Given the description of an element on the screen output the (x, y) to click on. 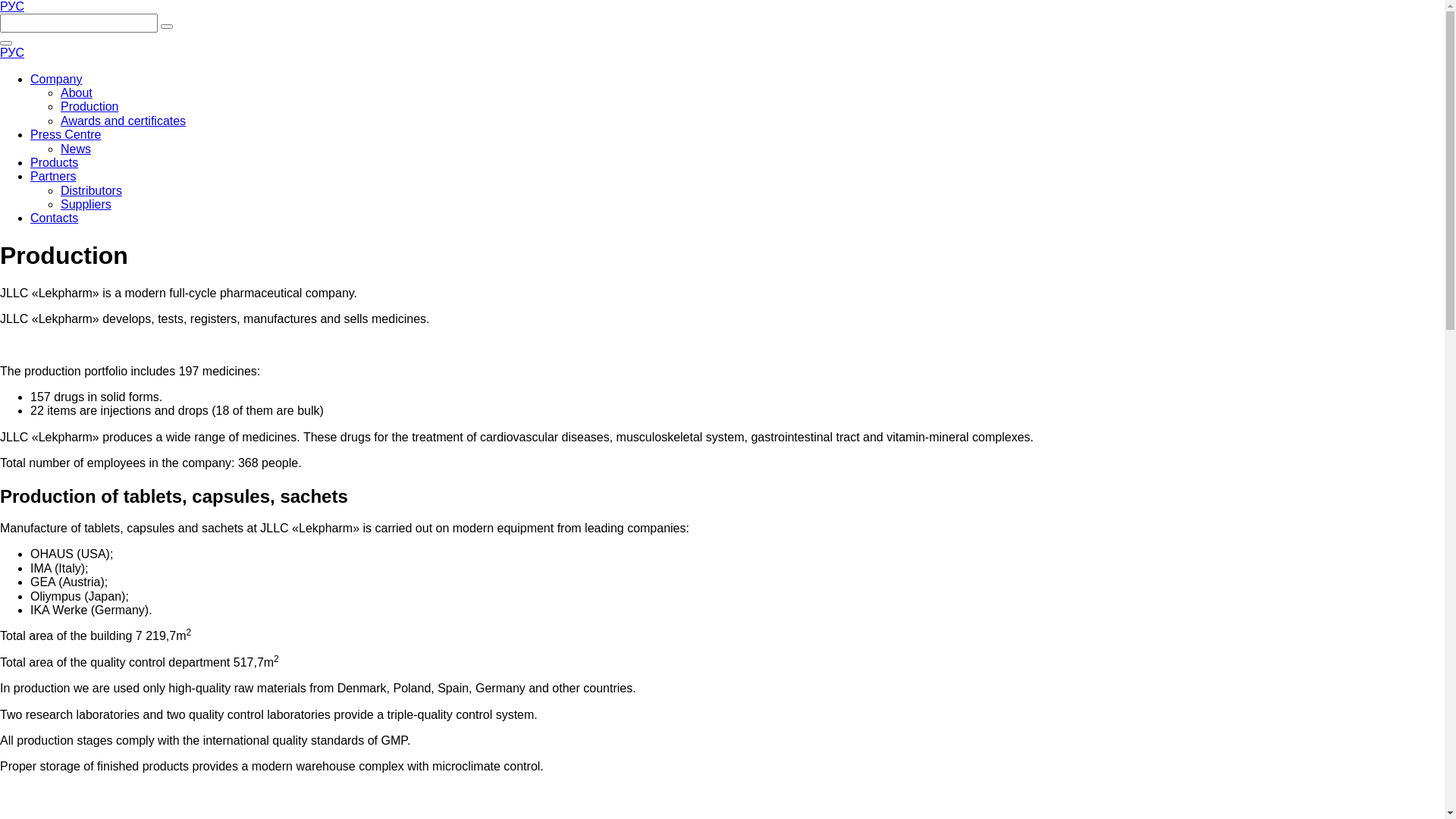
Awards and certificates Element type: text (122, 120)
Company Element type: text (55, 78)
Products Element type: text (54, 162)
Distributors Element type: text (91, 190)
About Element type: text (76, 92)
Contacts Element type: text (54, 217)
Suppliers Element type: text (85, 203)
Partners Element type: text (52, 175)
Press Centre Element type: text (65, 134)
News Element type: text (75, 148)
Production Element type: text (89, 106)
